Given the description of an element on the screen output the (x, y) to click on. 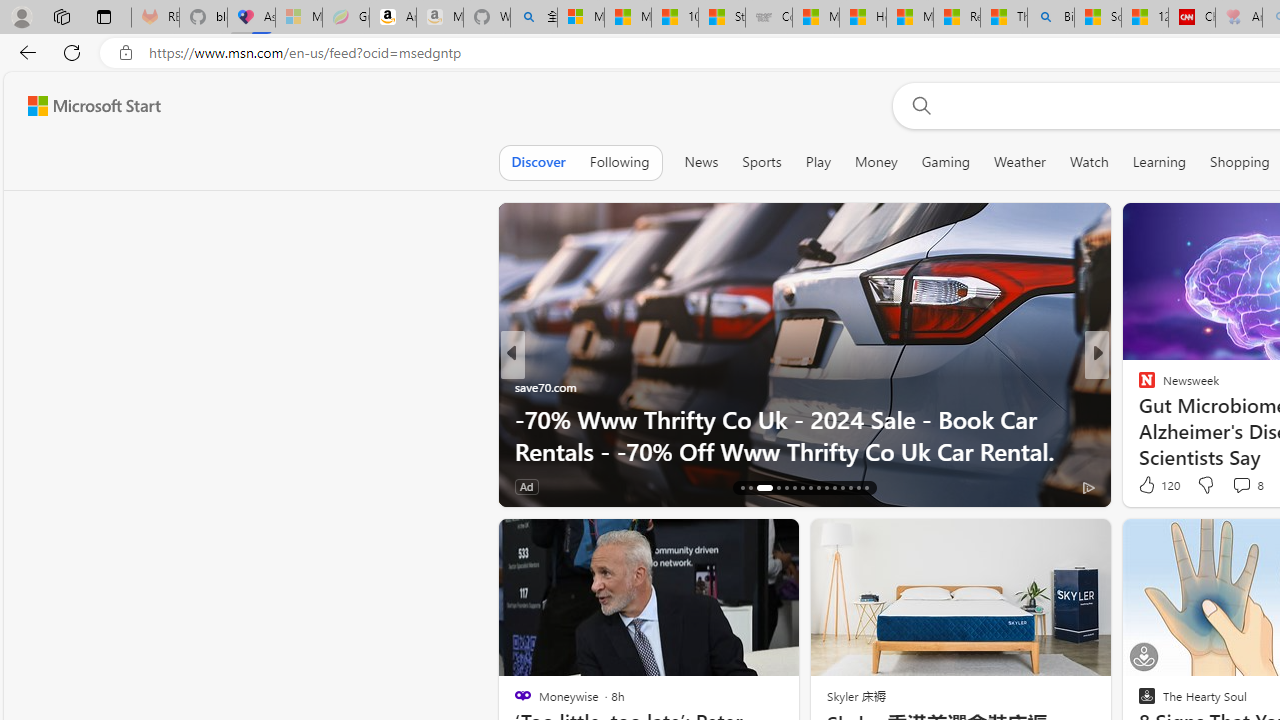
566 Like (535, 486)
1 Like (1145, 486)
View comments 15 Comment (1244, 486)
CBS News (1138, 418)
AutomationID: tab-21 (793, 487)
View comments 7 Comment (1234, 485)
